Given the description of an element on the screen output the (x, y) to click on. 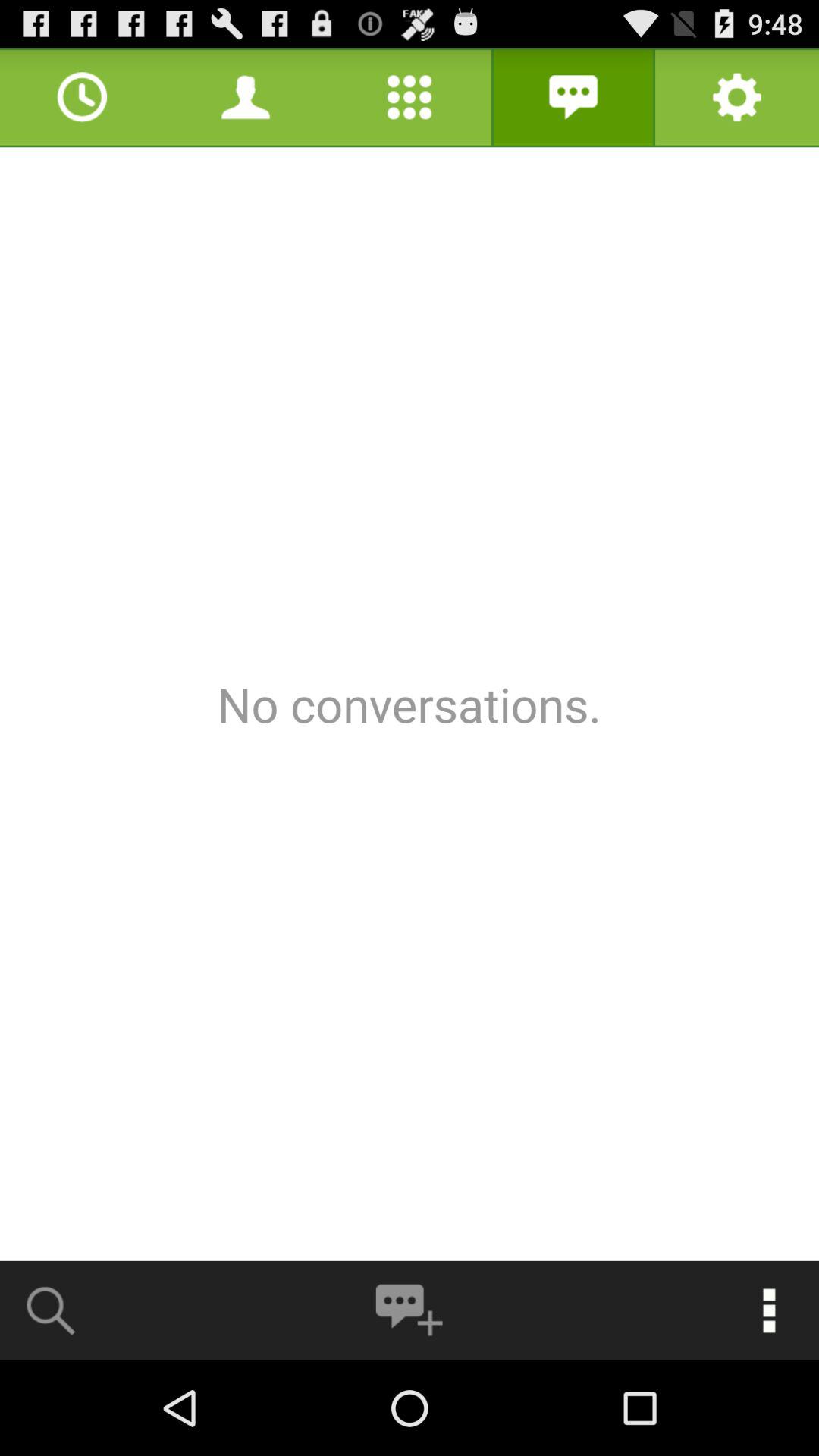
search conversations (51, 1310)
